Given the description of an element on the screen output the (x, y) to click on. 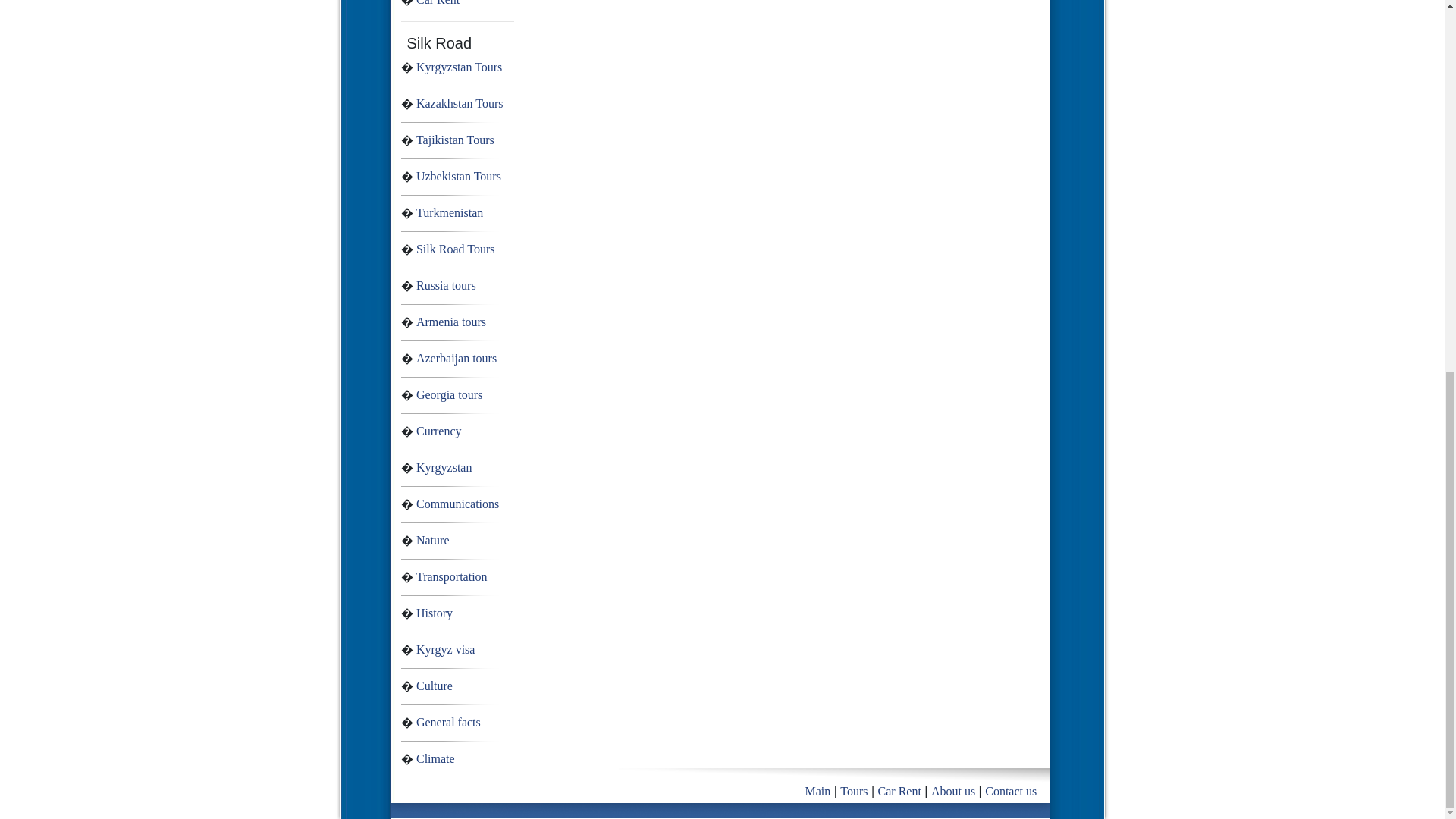
Climate (435, 758)
Kazakhstan Tours (459, 103)
Uzbekistan Tours (458, 175)
Culture (434, 685)
Azerbaijan tours (456, 358)
Armenia tours (451, 321)
Georgia tours (448, 394)
Car Rent (438, 2)
Communications (457, 503)
Tajikistan Tours (455, 139)
